Given the description of an element on the screen output the (x, y) to click on. 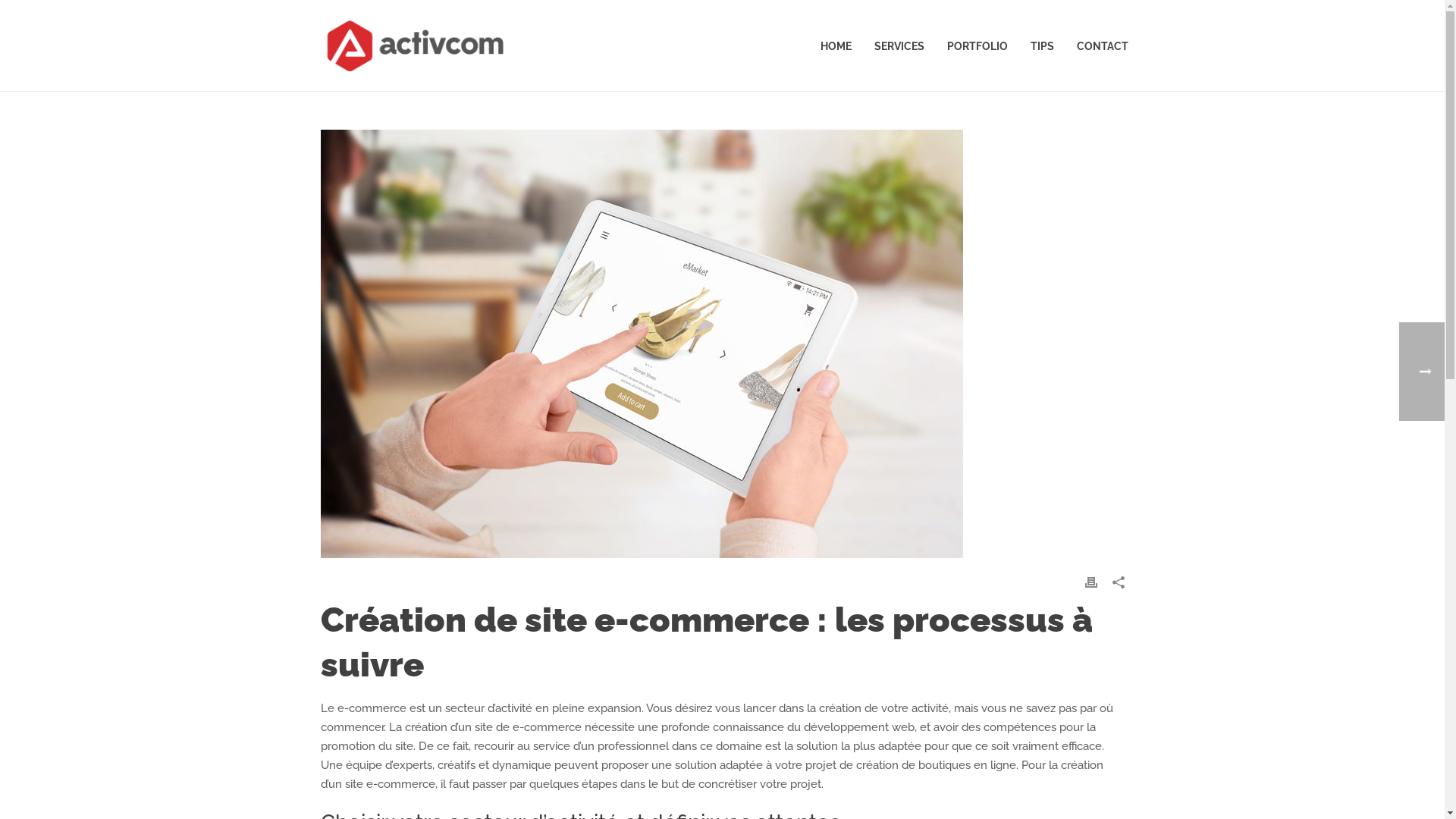
CONTACT Element type: text (1101, 46)
HOME Element type: text (835, 46)
PORTFOLIO Element type: text (977, 46)
SERVICES Element type: text (898, 46)
TIPS Element type: text (1042, 46)
  Element type: text (721, 343)
Print Element type: hover (1090, 581)
